Given the description of an element on the screen output the (x, y) to click on. 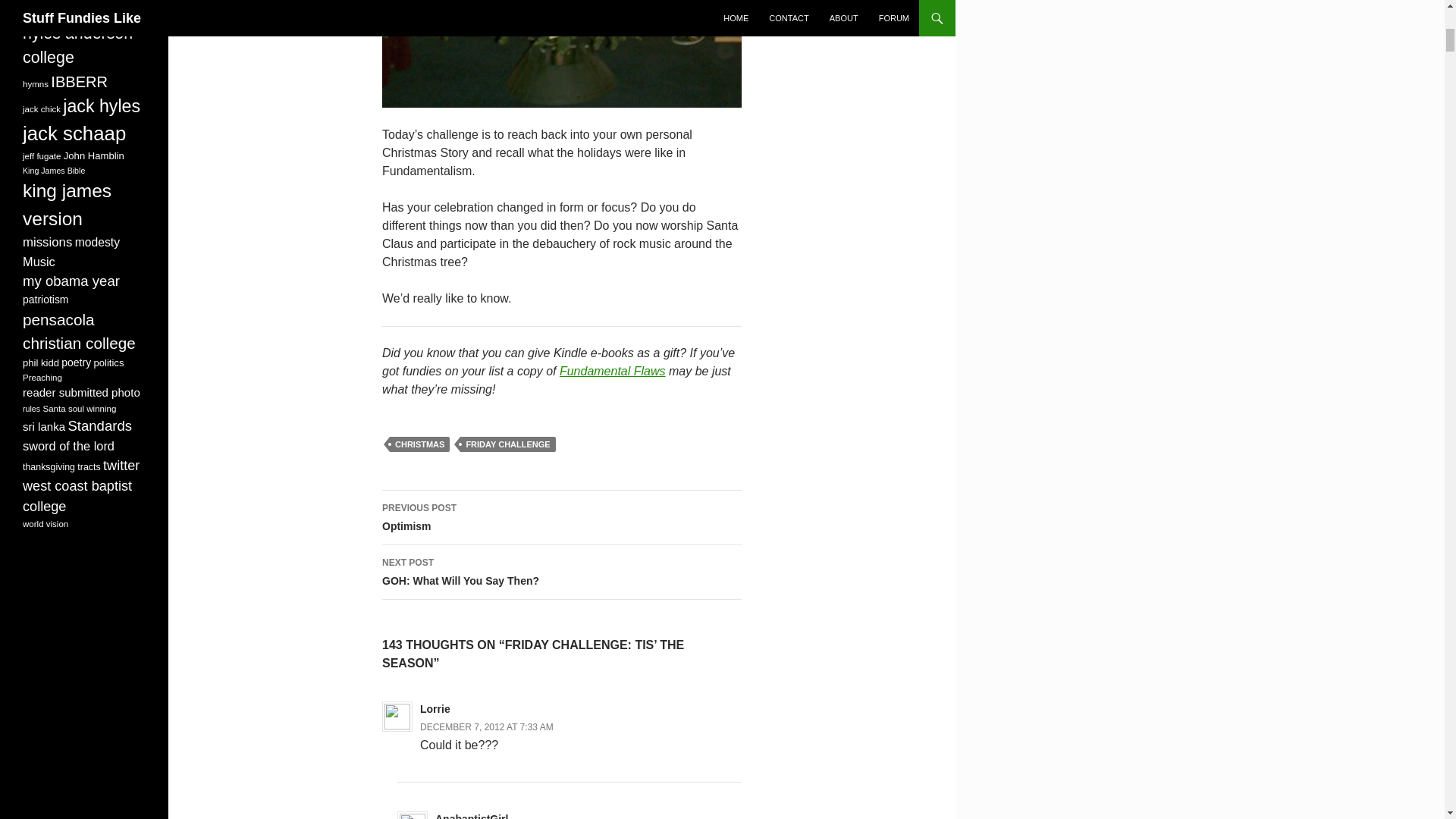
DECEMBER 7, 2012 AT 7:33 AM (561, 572)
CHRISTMAS (561, 517)
FRIDAY CHALLENGE (486, 726)
Fundamental Flaws (419, 444)
